Given the description of an element on the screen output the (x, y) to click on. 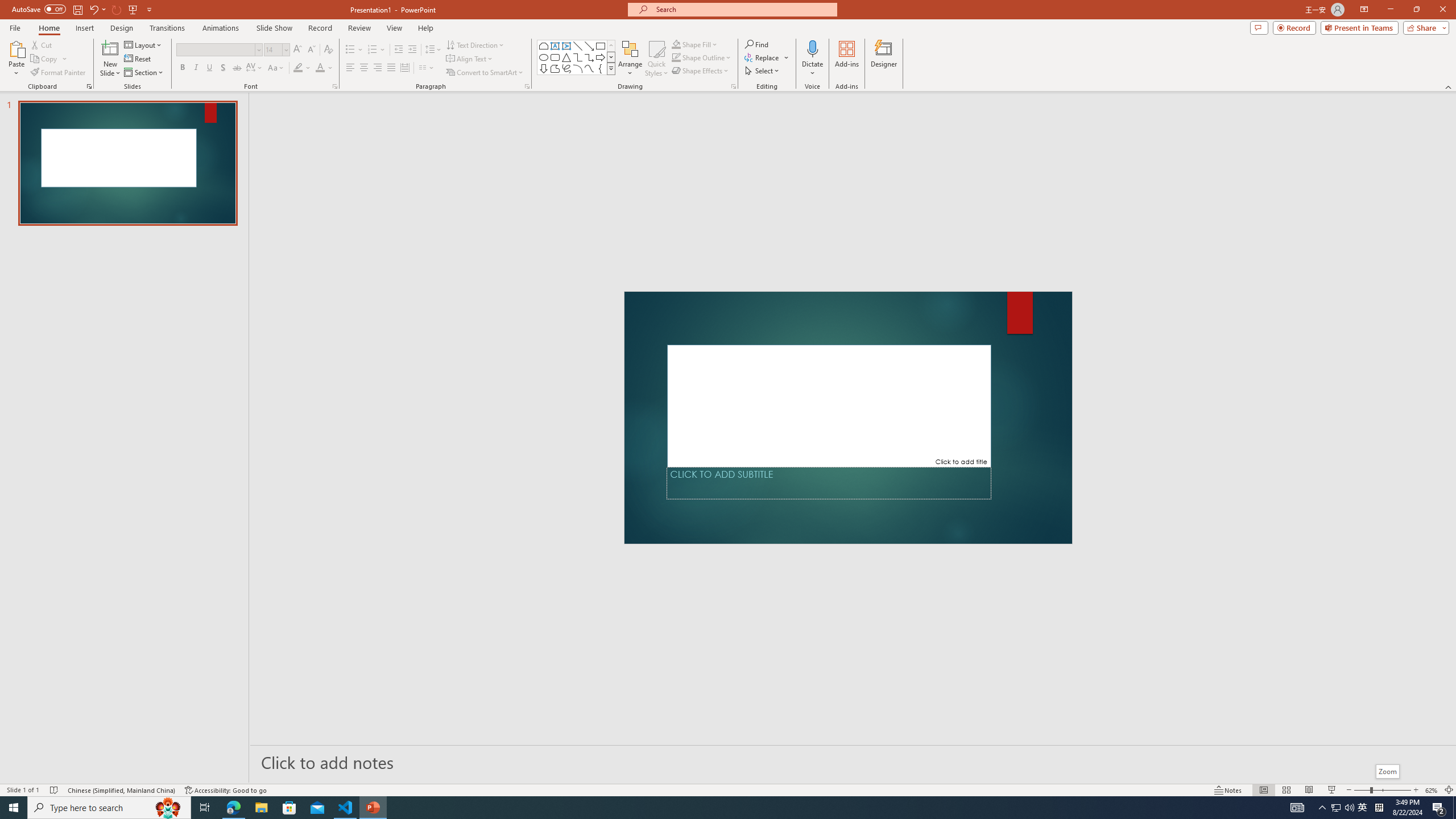
Rectangle: Top Corners Snipped (543, 45)
